Given the description of an element on the screen output the (x, y) to click on. 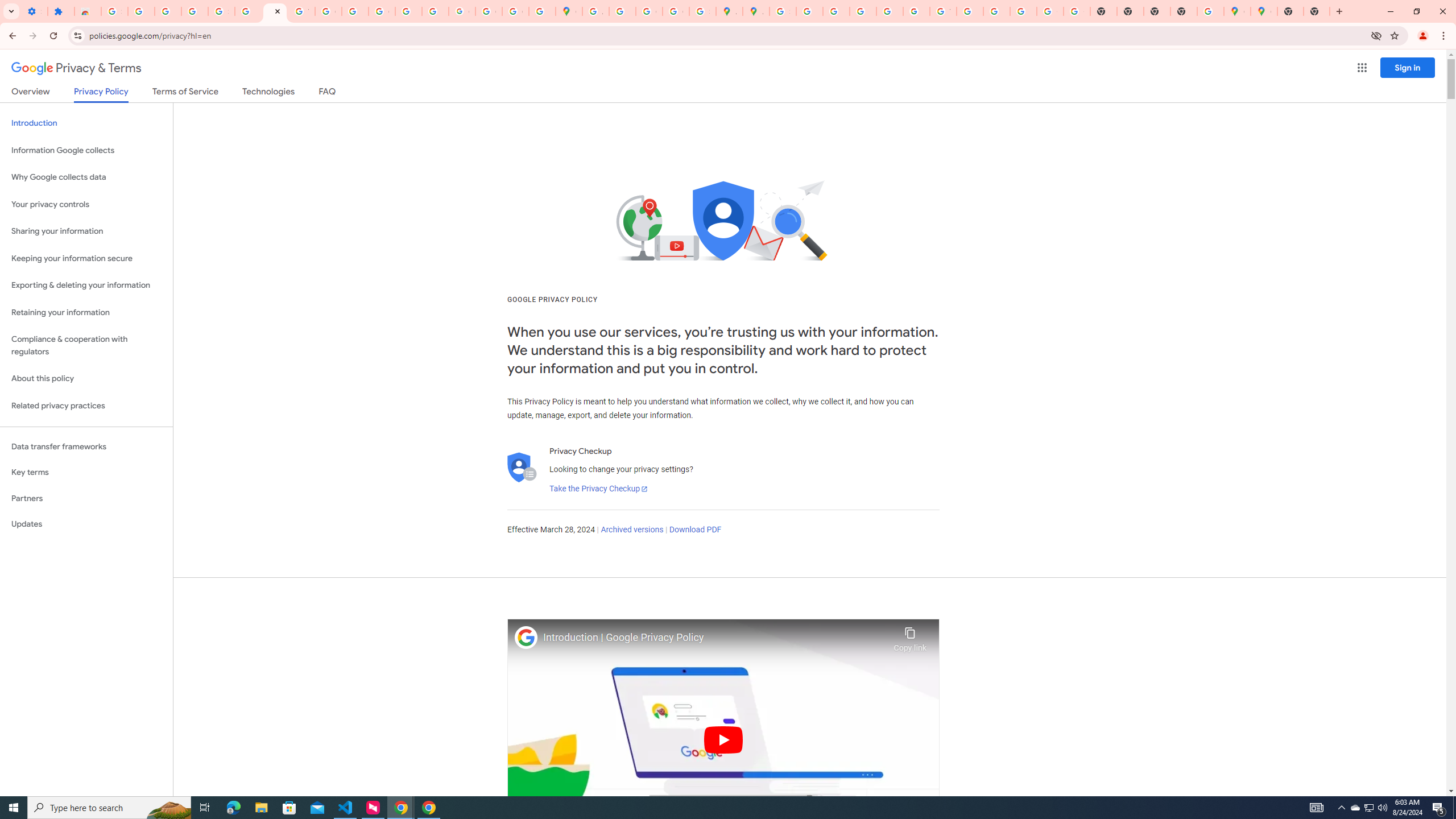
Keeping your information secure (86, 258)
Play (723, 739)
Data transfer frameworks (86, 446)
Introduction | Google Privacy Policy (715, 637)
Use Google Maps in Space - Google Maps Help (1210, 11)
Why Google collects data (86, 176)
About this policy (86, 379)
